Given the description of an element on the screen output the (x, y) to click on. 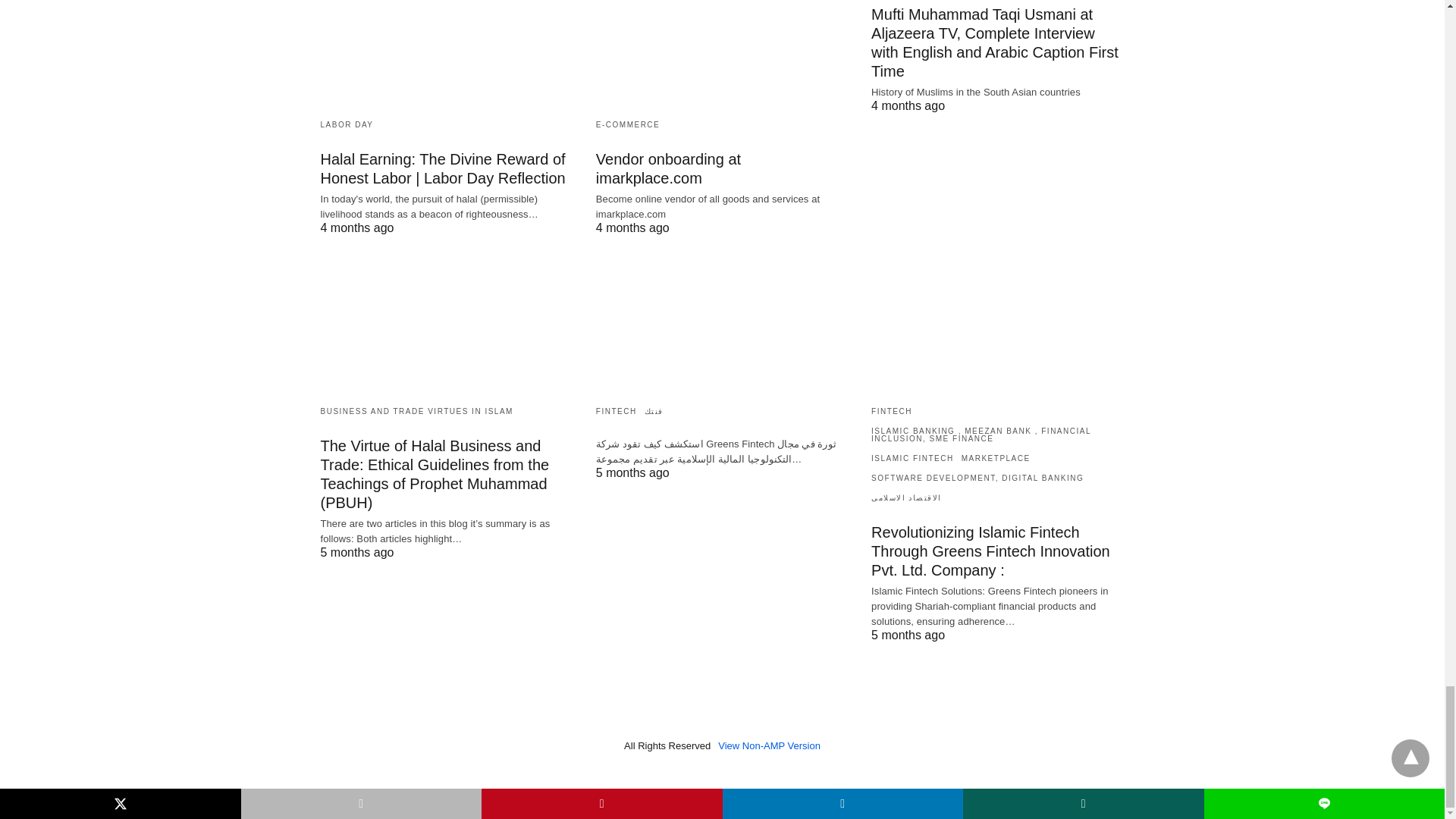
E-COMMERCE (627, 124)
LABOR DAY (346, 124)
View Non-AMP Version (769, 745)
Vendor onboarding at imarkplace.com (721, 53)
Vendor onboarding at imarkplace.com (668, 168)
